Given the description of an element on the screen output the (x, y) to click on. 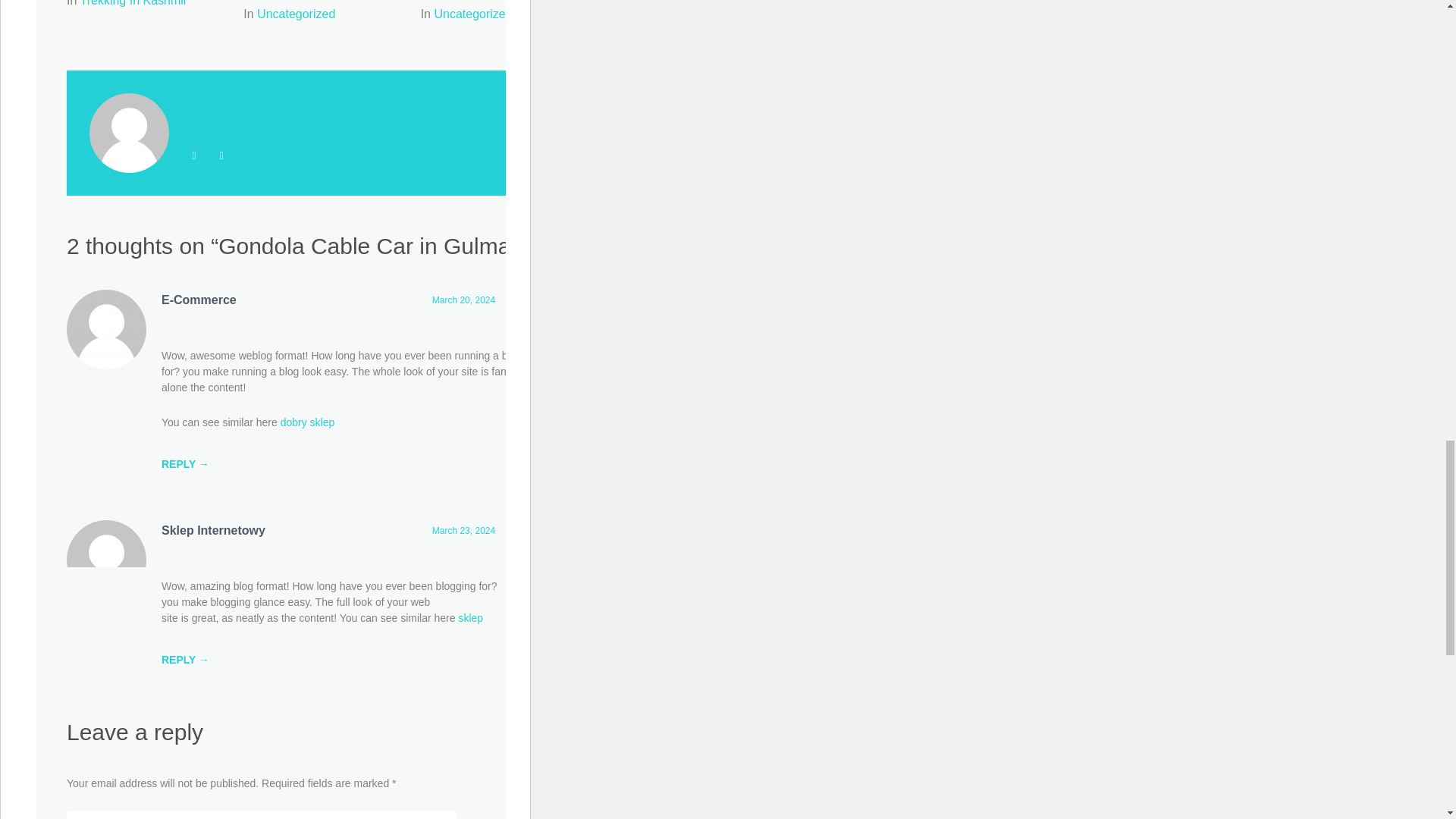
Sklep Internetowy (212, 530)
Uncategorized (295, 13)
dobry sklep (307, 422)
sklep (470, 617)
Uncategorized (472, 13)
View All Posts (276, 155)
Website (193, 155)
RSS (221, 155)
Trekking in Kashmir (133, 3)
Trekking In Kashmir (133, 3)
